Given the description of an element on the screen output the (x, y) to click on. 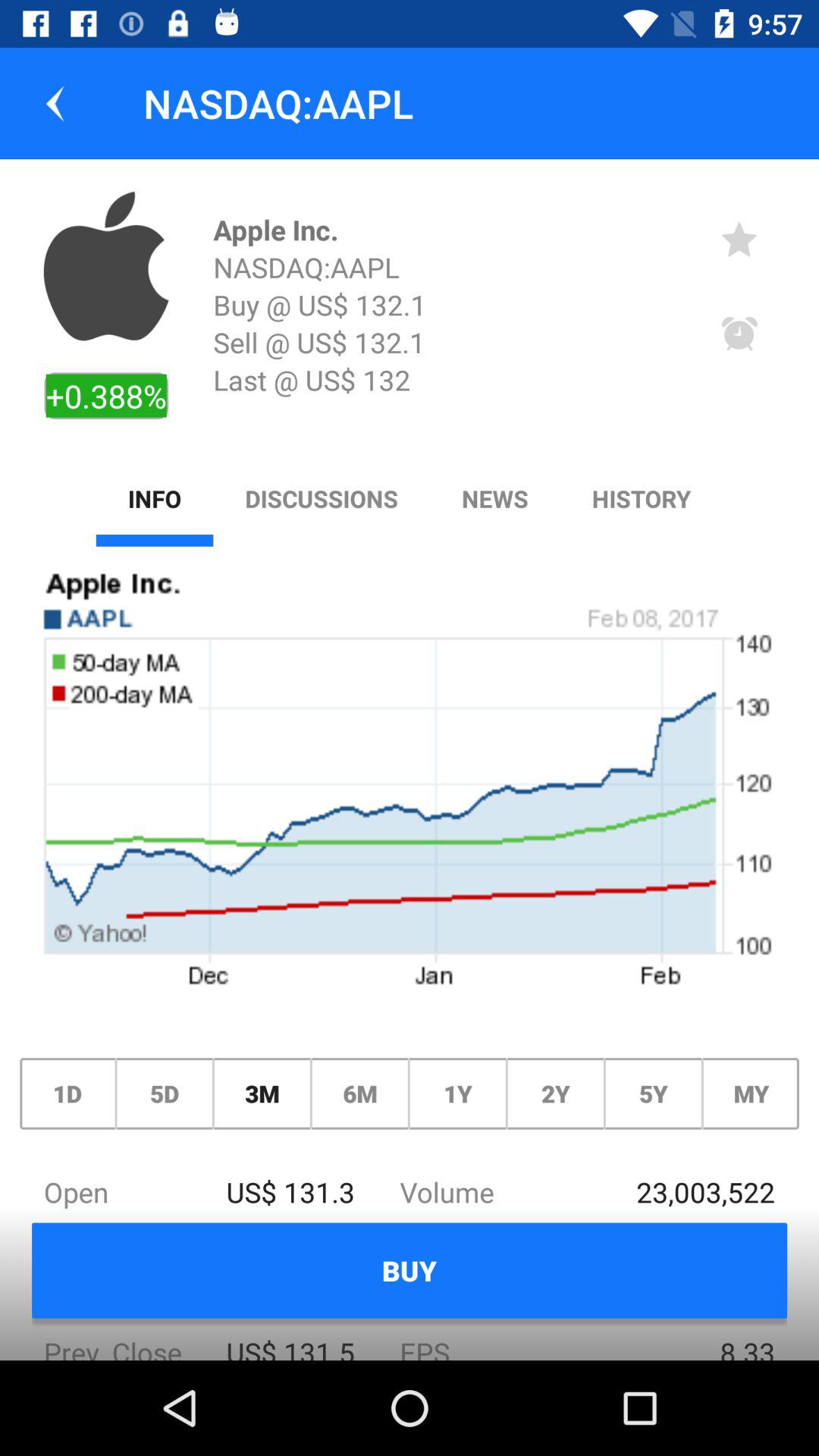
launch the icon above the 23,003,522 icon (653, 1093)
